Given the description of an element on the screen output the (x, y) to click on. 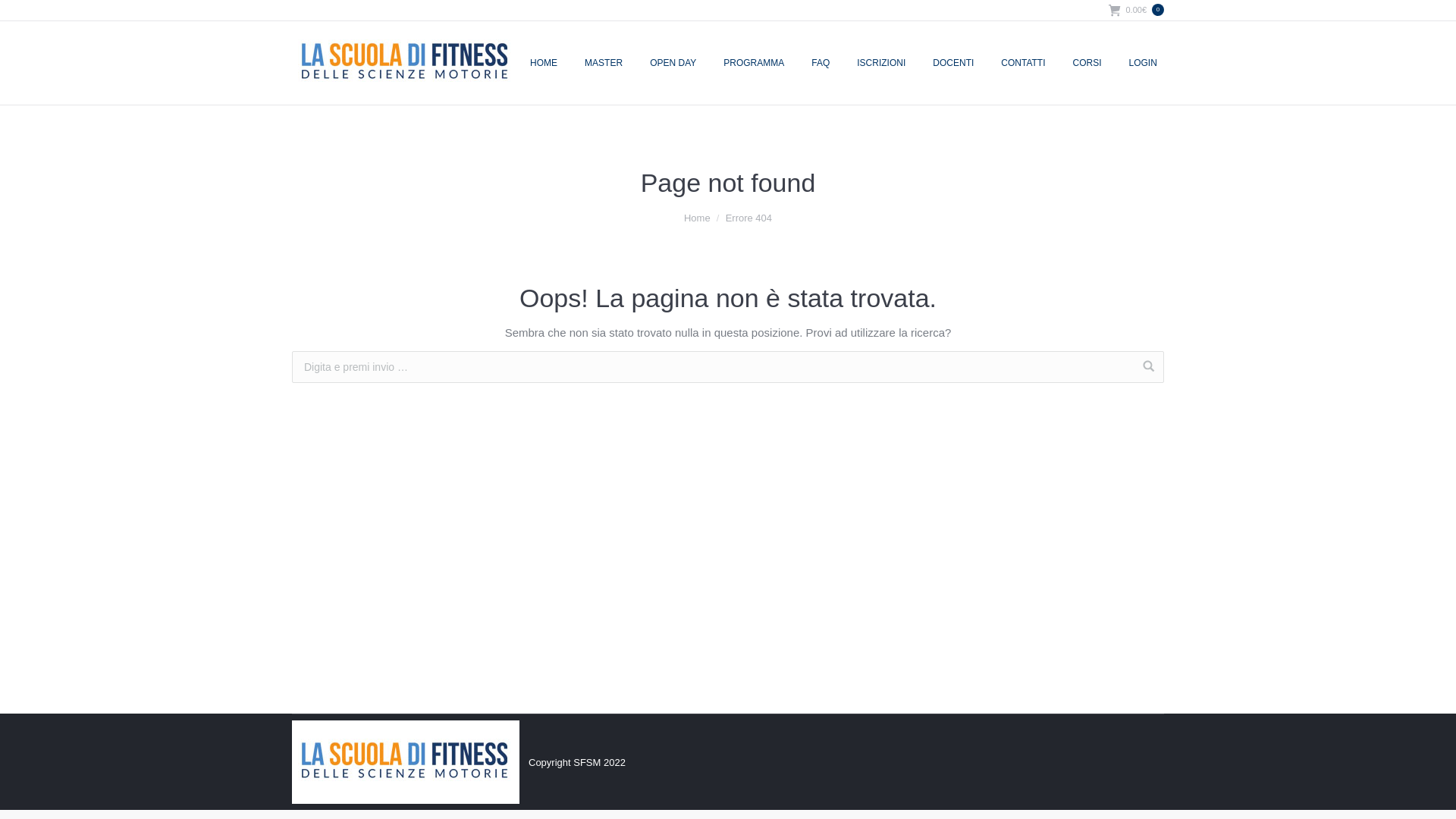
ISCRIZIONI (880, 62)
PROGRAMMA (753, 62)
